Given the description of an element on the screen output the (x, y) to click on. 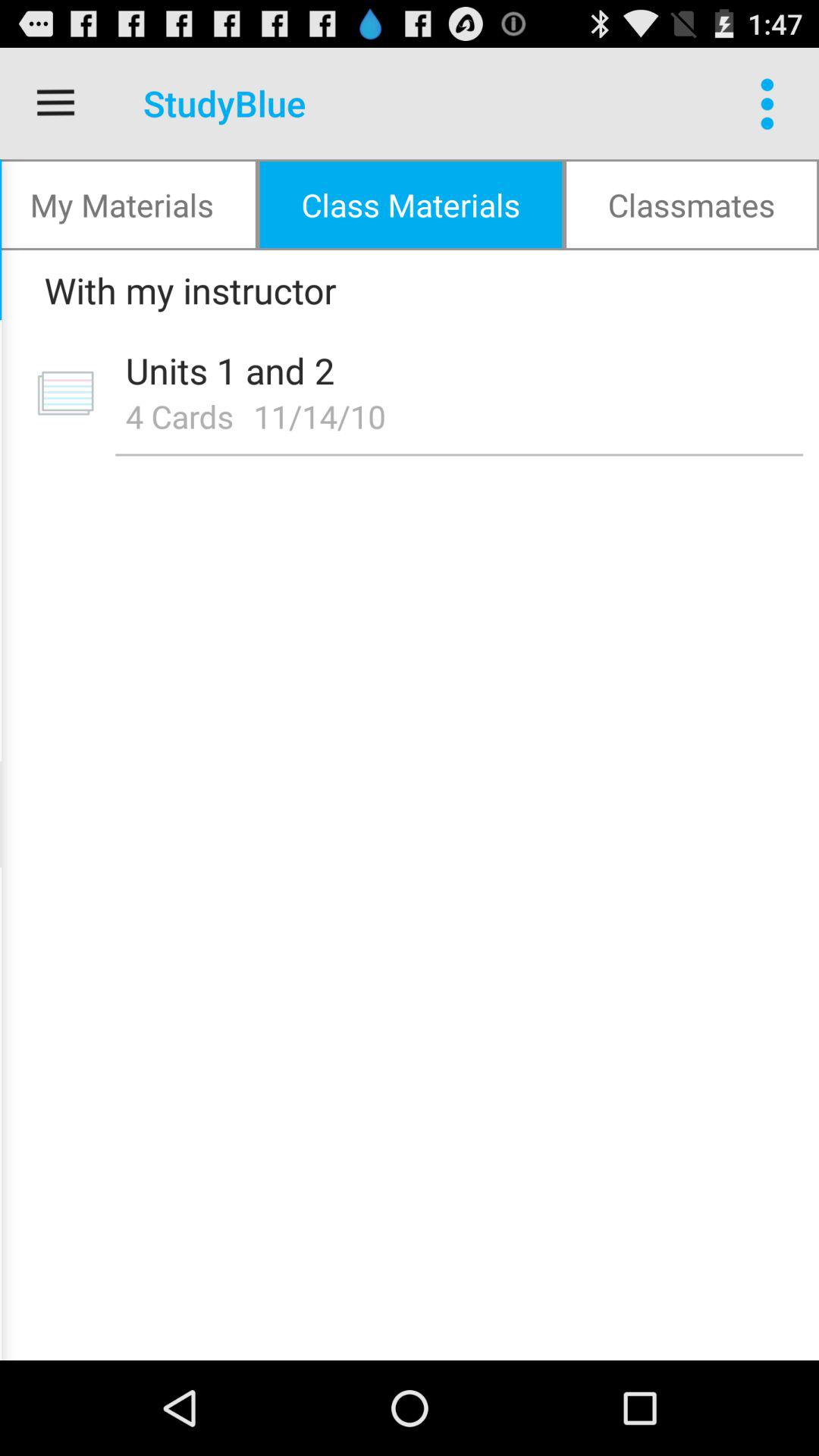
tap icon to the right of the 4 cards item (324, 415)
